Given the description of an element on the screen output the (x, y) to click on. 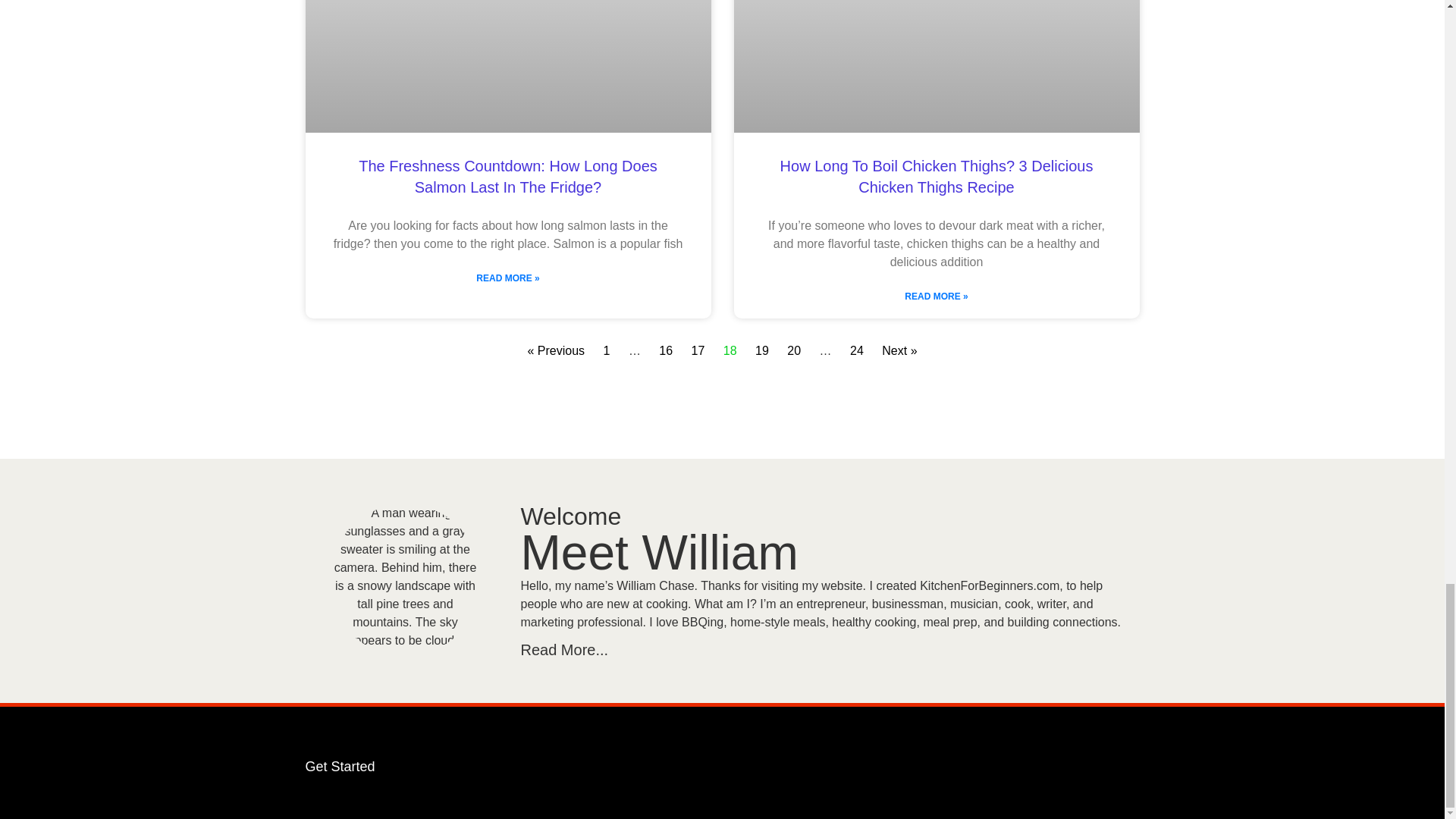
19 (761, 350)
16 (665, 350)
24 (856, 350)
17 (697, 350)
20 (793, 350)
